Given the description of an element on the screen output the (x, y) to click on. 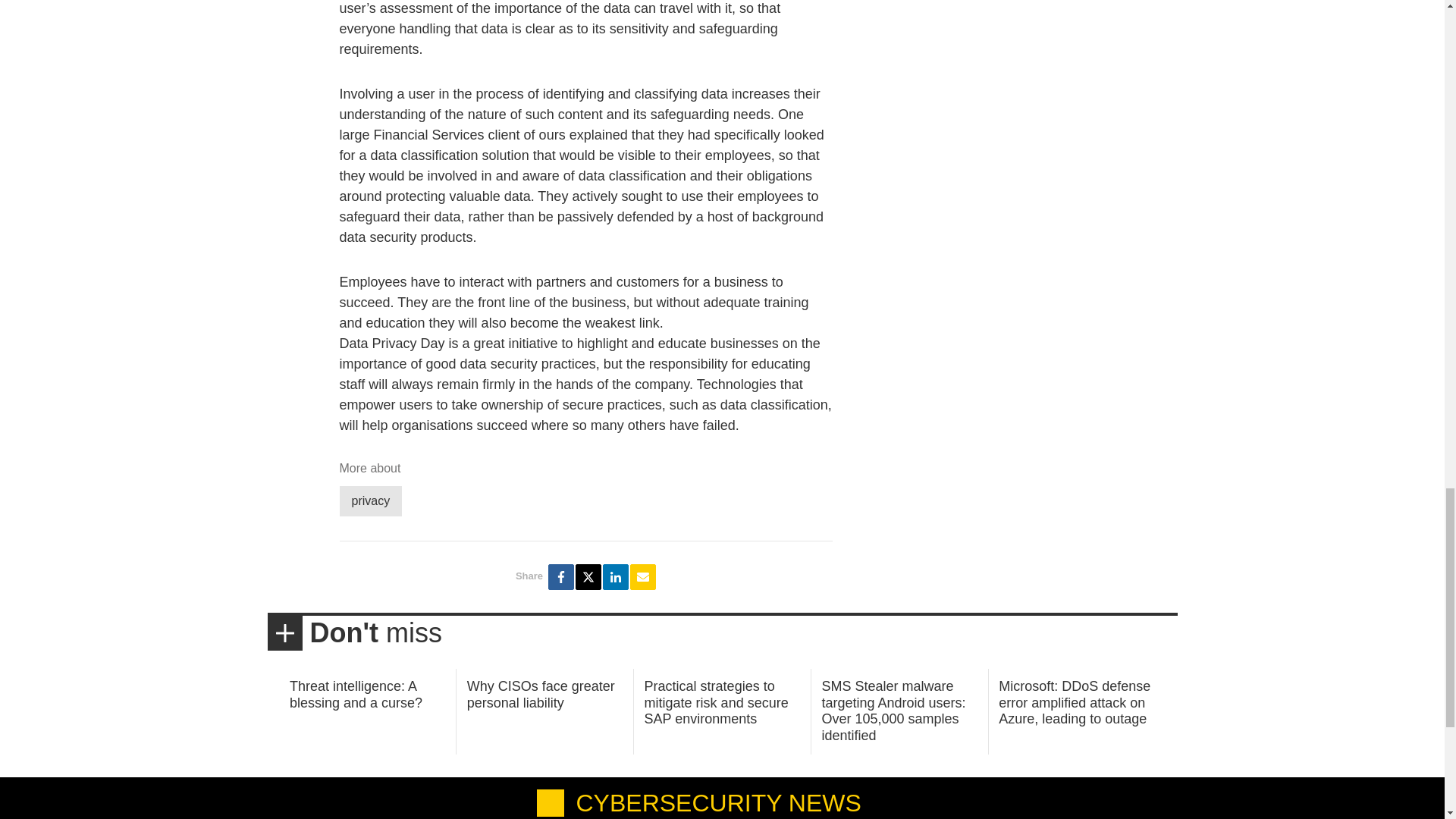
privacy (371, 500)
Threat intelligence: A blessing and a curse? (355, 694)
privacy (371, 500)
Why CISOs face greater personal liability (540, 694)
